Given the description of an element on the screen output the (x, y) to click on. 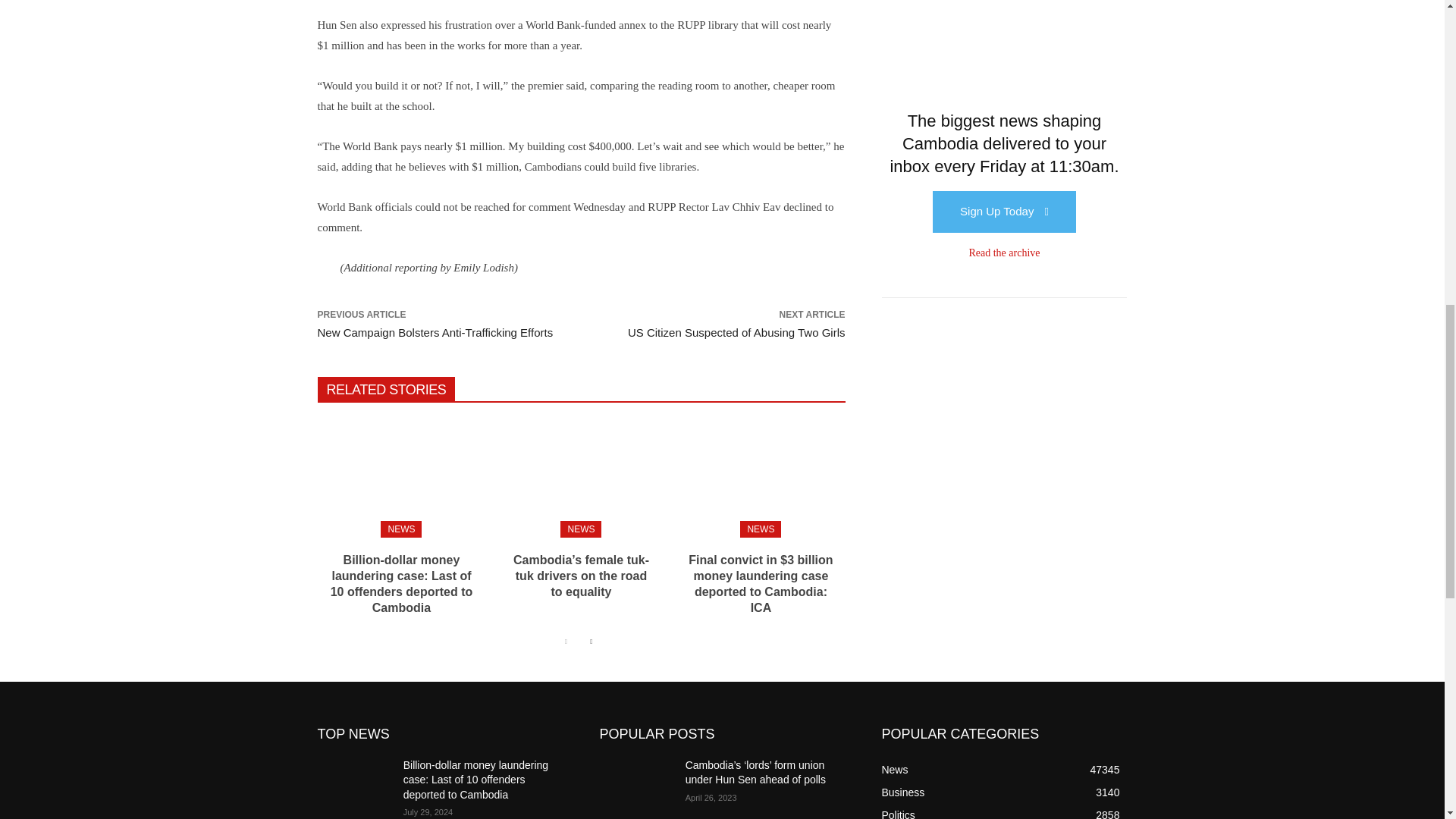
NEWS (759, 528)
US Citizen Suspected of Abusing Two Girls (736, 332)
New Campaign Bolsters Anti-Trafficking Efforts (435, 332)
NEWS (580, 528)
NEWS (401, 528)
